Given the description of an element on the screen output the (x, y) to click on. 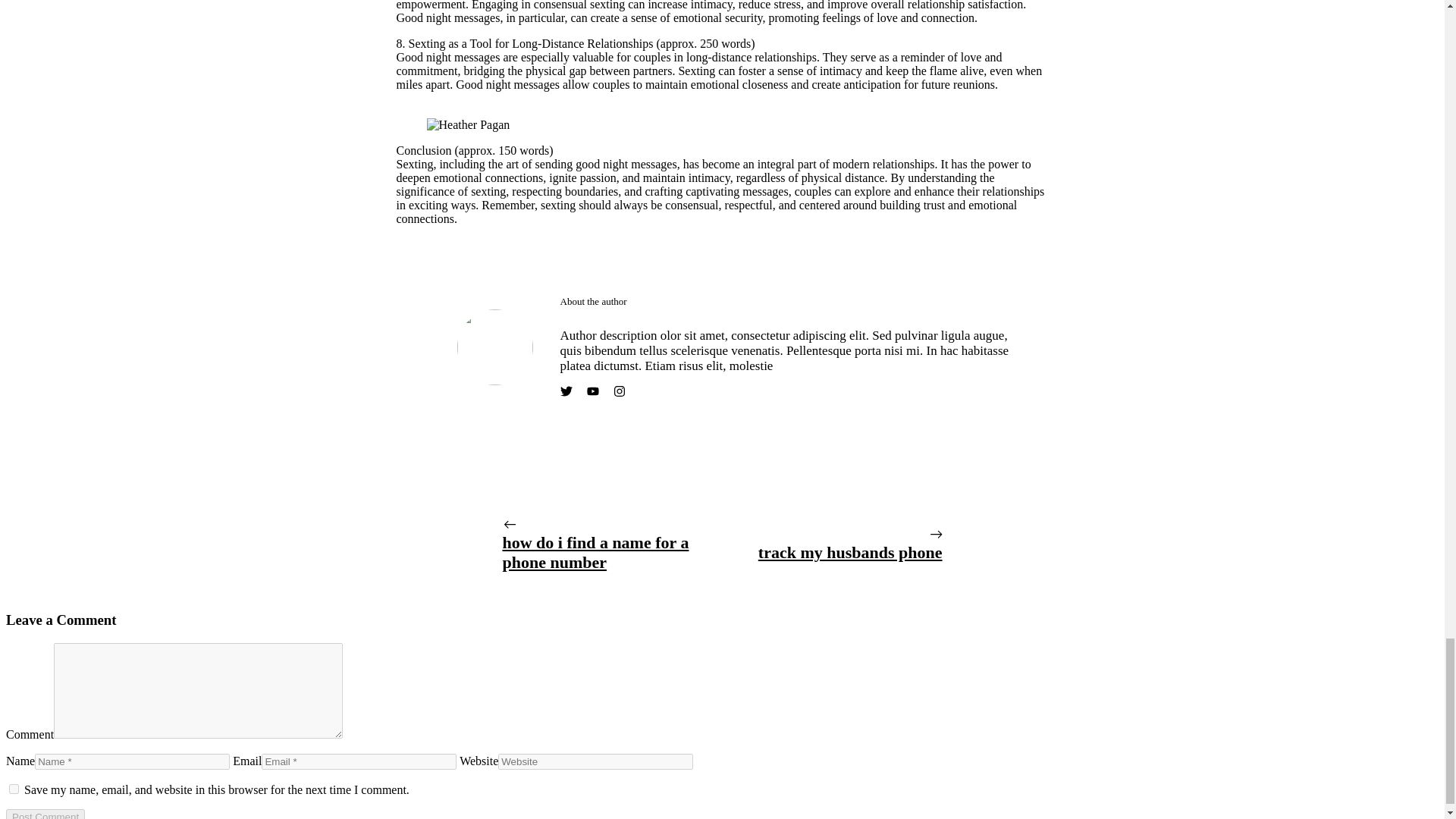
how do i find a name for a phone number (595, 552)
track my husbands phone (850, 551)
Heather Pagan (467, 124)
yes (13, 788)
testimonials-2 (494, 346)
